Given the description of an element on the screen output the (x, y) to click on. 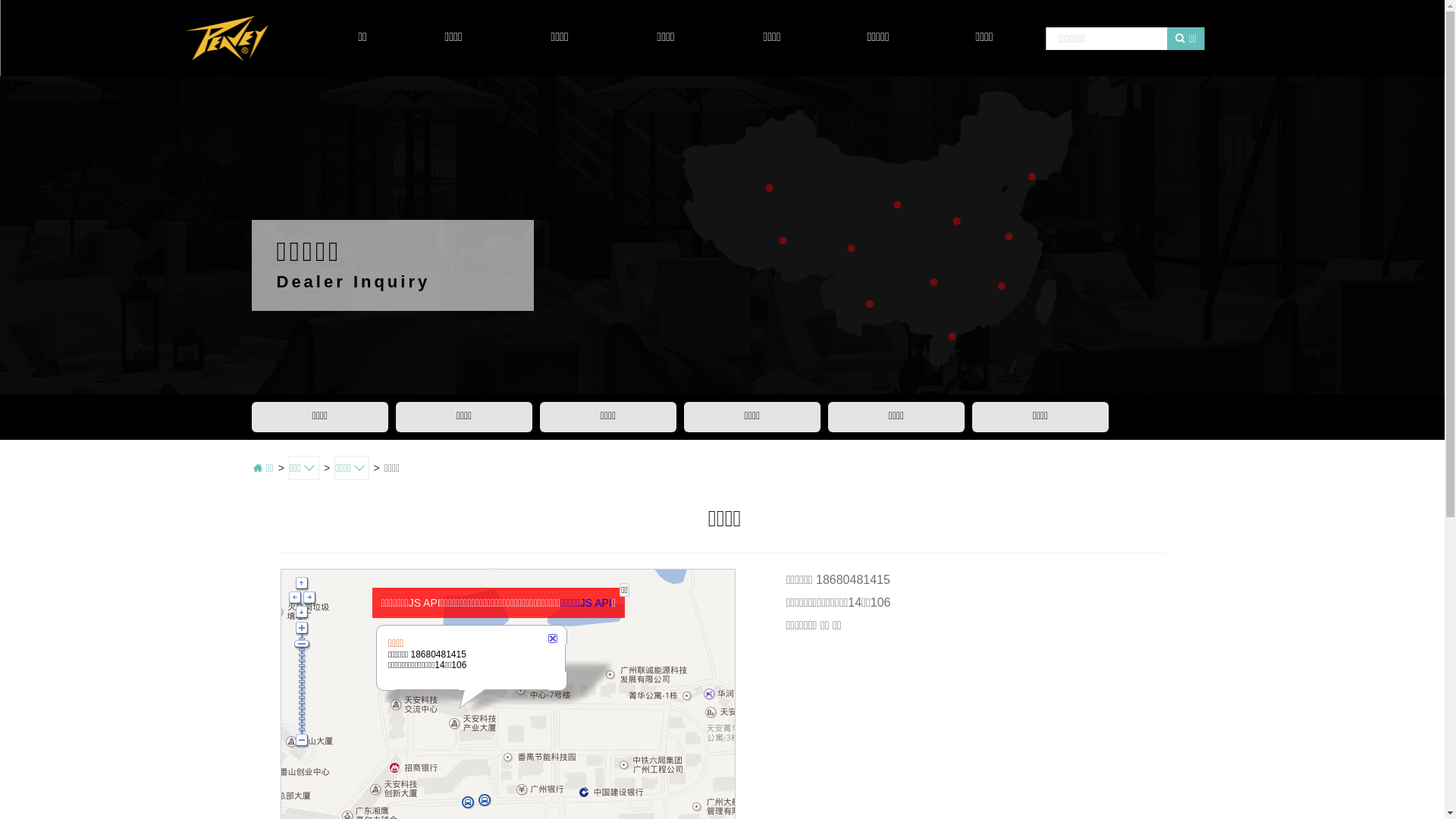
logo Element type: hover (226, 37)
